Given the description of an element on the screen output the (x, y) to click on. 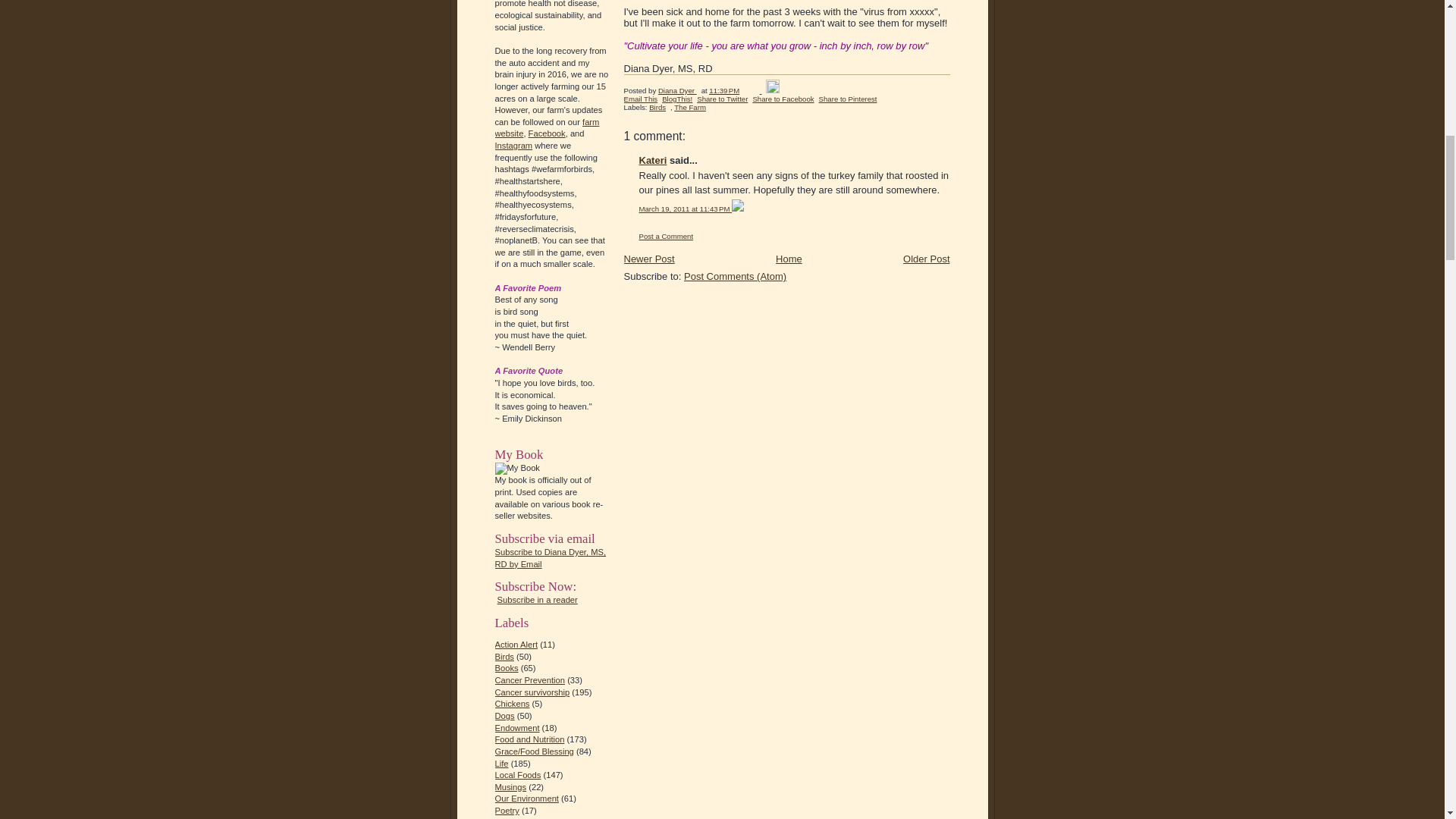
Share to Twitter (722, 99)
Facebook (547, 133)
Chickens (512, 703)
Local Foods (517, 774)
Our Environment (526, 798)
Newer Post (648, 258)
Books (506, 667)
Endowment (516, 727)
Share to Pinterest (847, 99)
Action Alert (516, 644)
Quotations (515, 818)
Poetry (506, 809)
BlogThis! (677, 99)
Instagram (513, 144)
Delete Comment (738, 208)
